Given the description of an element on the screen output the (x, y) to click on. 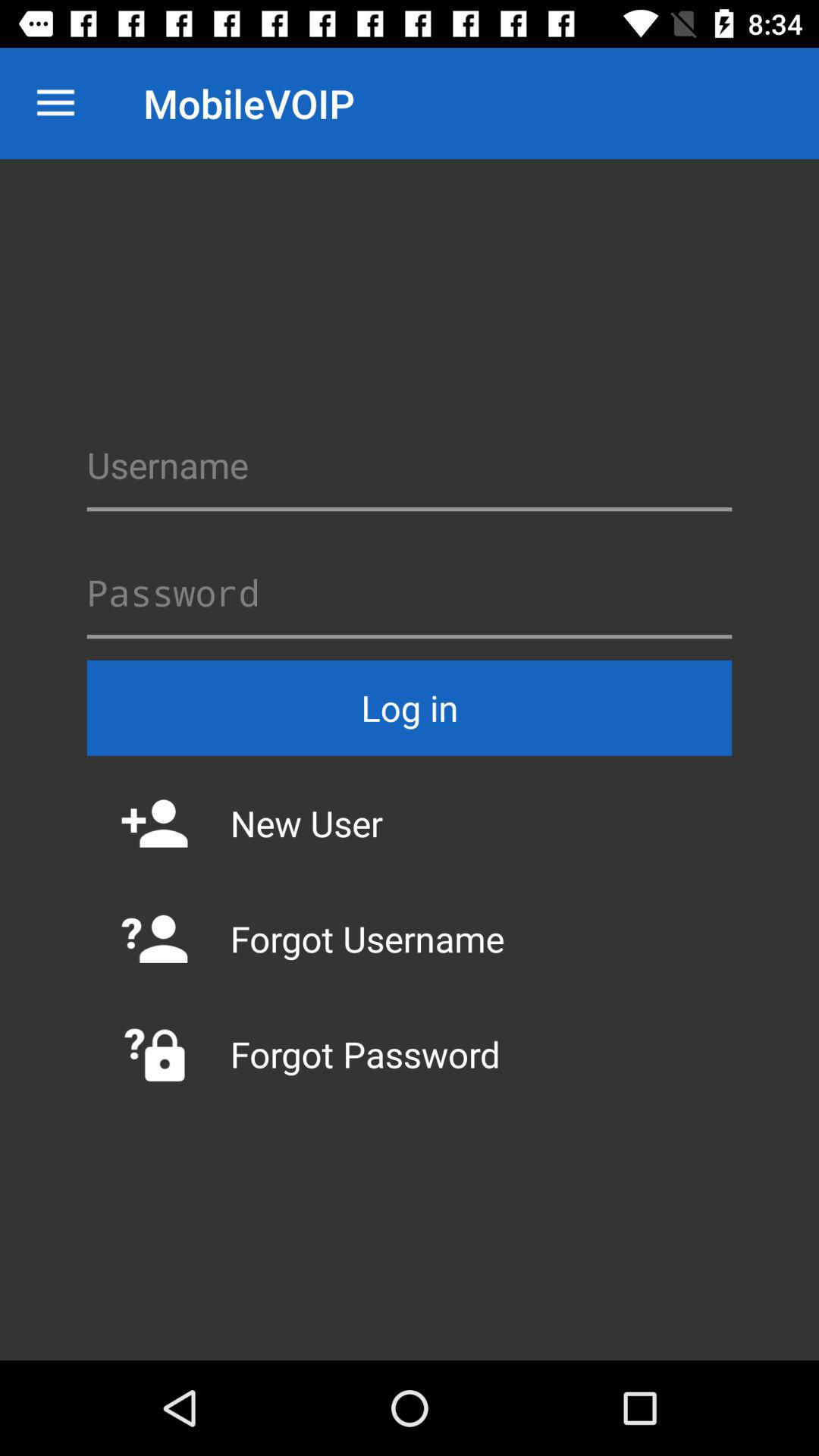
select icon above forgot username icon (409, 823)
